Given the description of an element on the screen output the (x, y) to click on. 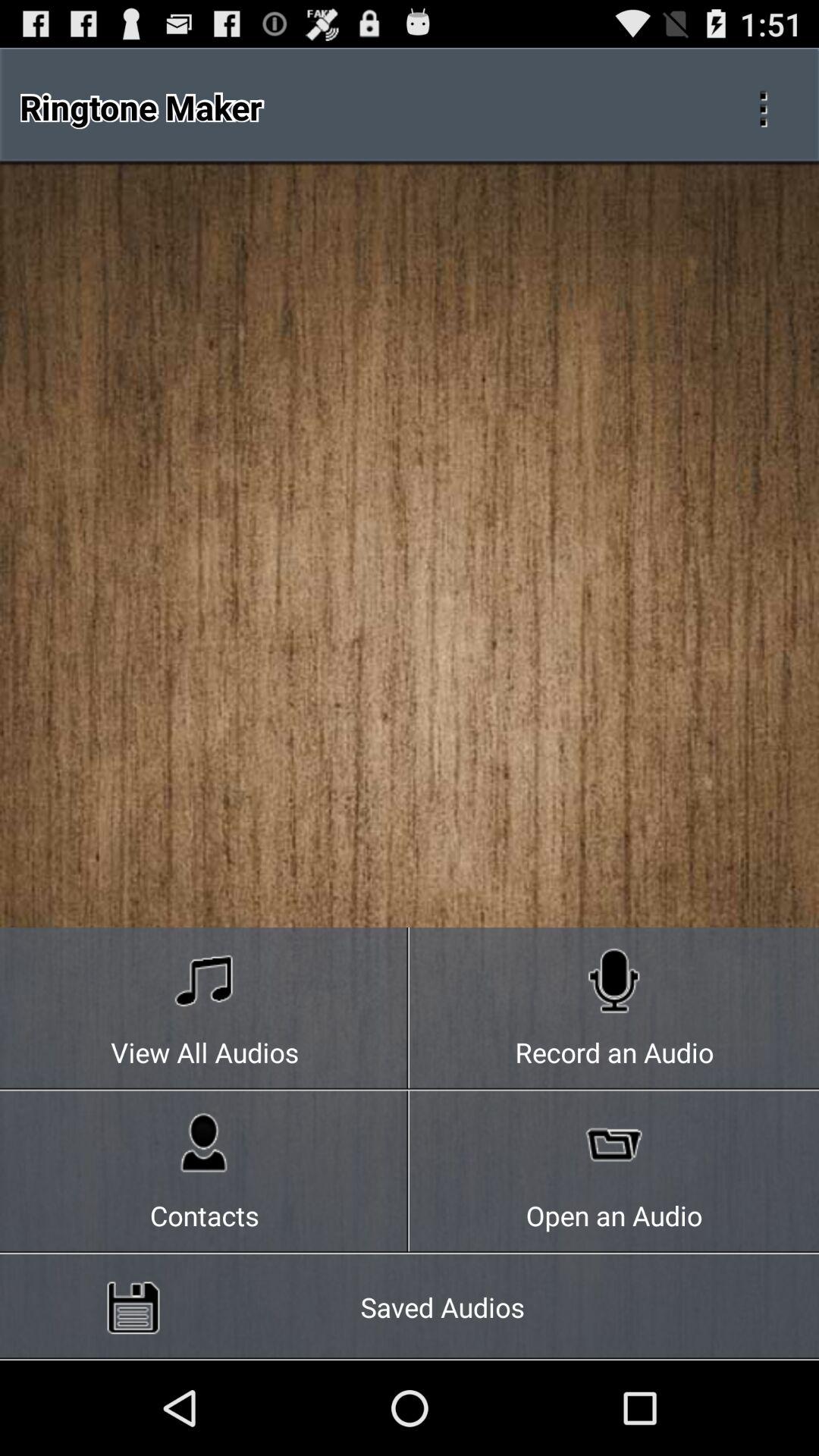
open additional settings/options (762, 107)
